Given the description of an element on the screen output the (x, y) to click on. 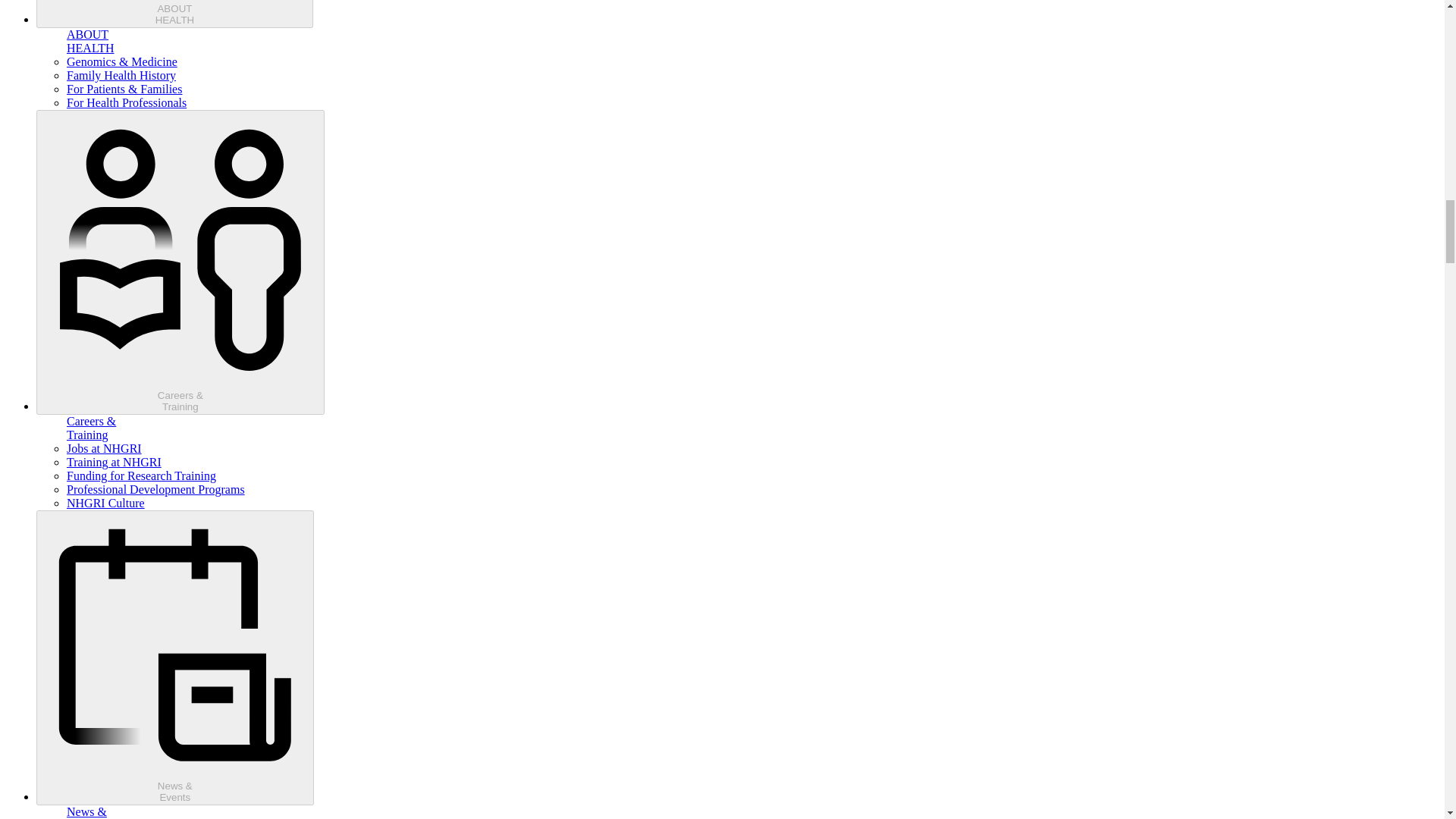
Family Health History (121, 74)
For Health Professionals (126, 102)
Jobs at NHGRI (103, 448)
